Given the description of an element on the screen output the (x, y) to click on. 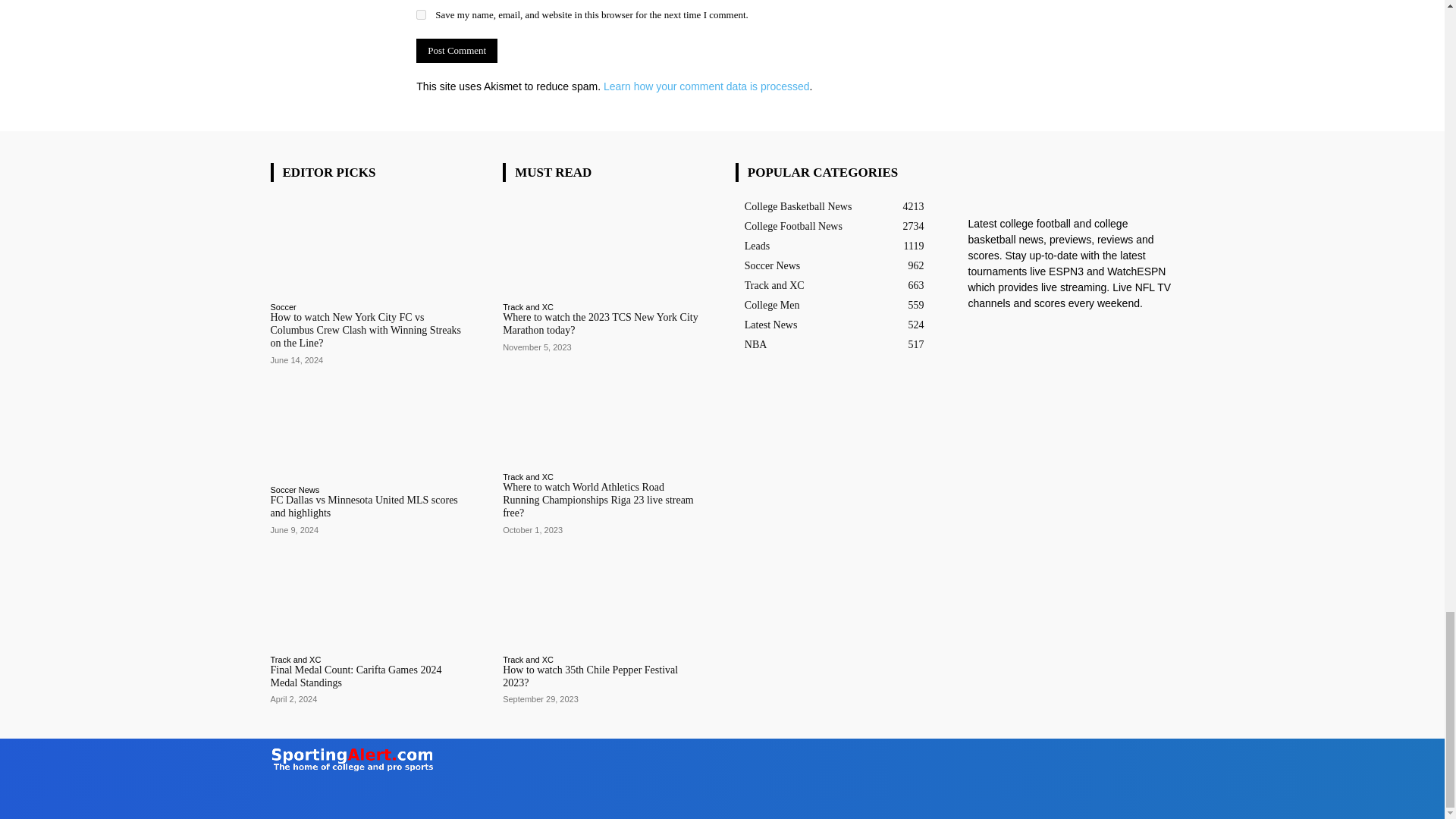
Post Comment (456, 50)
yes (421, 14)
